Given the description of an element on the screen output the (x, y) to click on. 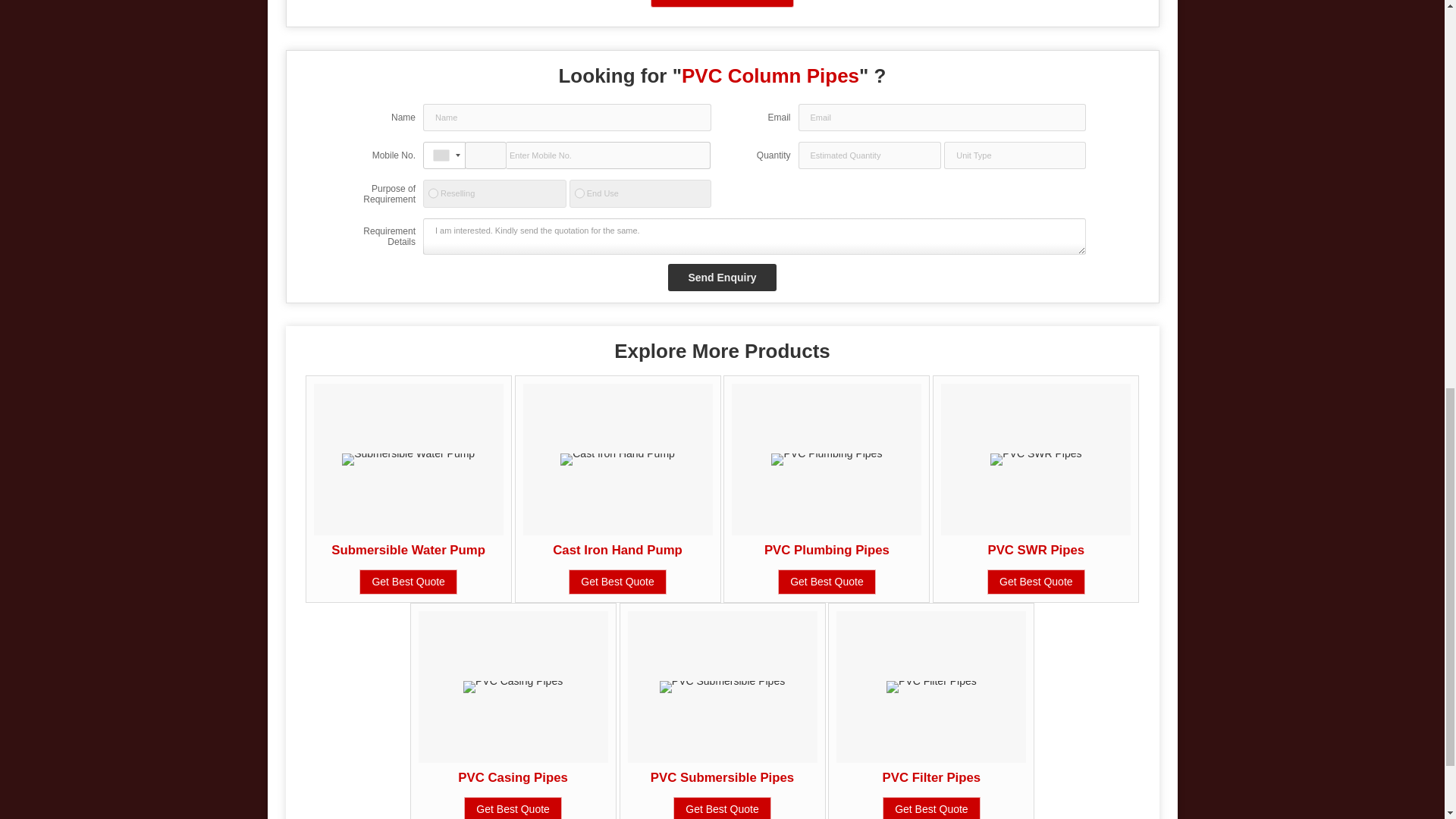
Get Best Quote (826, 581)
Get Best Quote (408, 581)
Cast Iron Hand Pump (617, 549)
PVC Plumbing Pipes (826, 549)
Reselling (433, 193)
End Use (580, 193)
Submersible Water Pump (407, 549)
Send Enquiry (722, 277)
Get Best Quote (617, 581)
Yes! I am interested (722, 3)
Send Enquiry (722, 277)
